Given the description of an element on the screen output the (x, y) to click on. 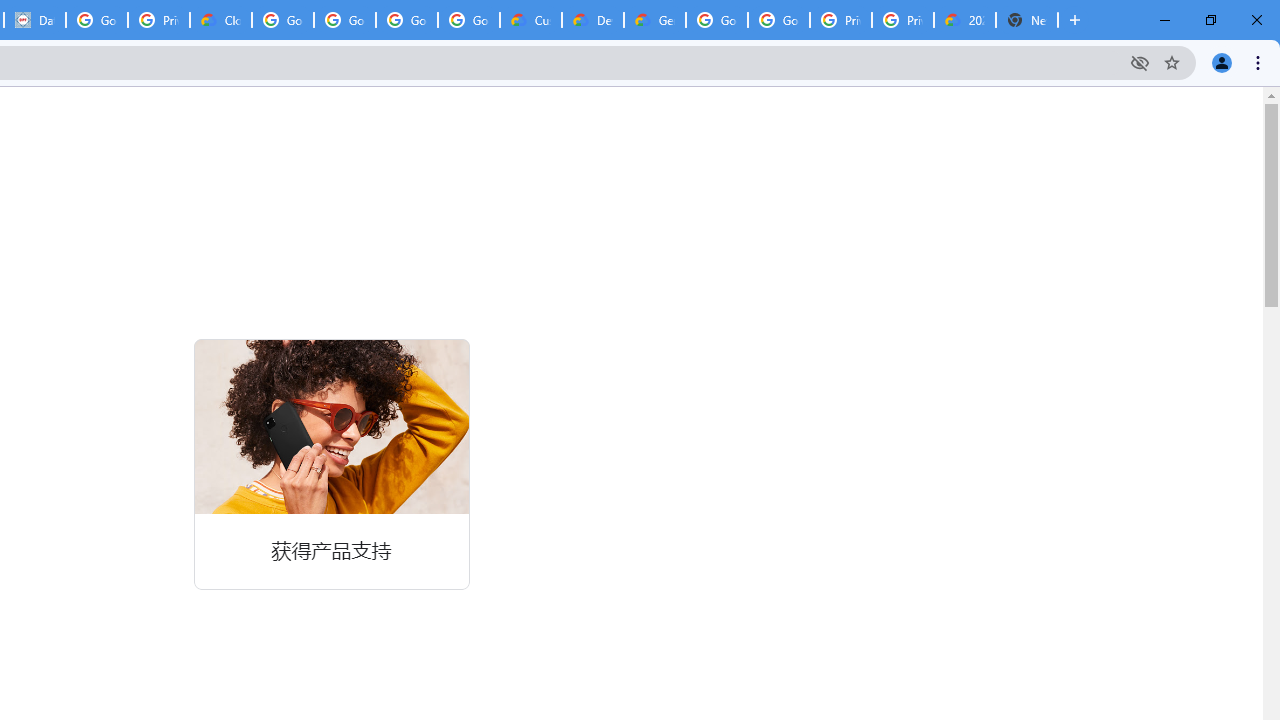
Gemini for Business and Developers | Google Cloud (654, 20)
Google Cloud Platform (716, 20)
Customer Care | Google Cloud (530, 20)
Google Workspace - Specific Terms (468, 20)
New Tab (1026, 20)
Cloud Data Processing Addendum | Google Cloud (220, 20)
